Given the description of an element on the screen output the (x, y) to click on. 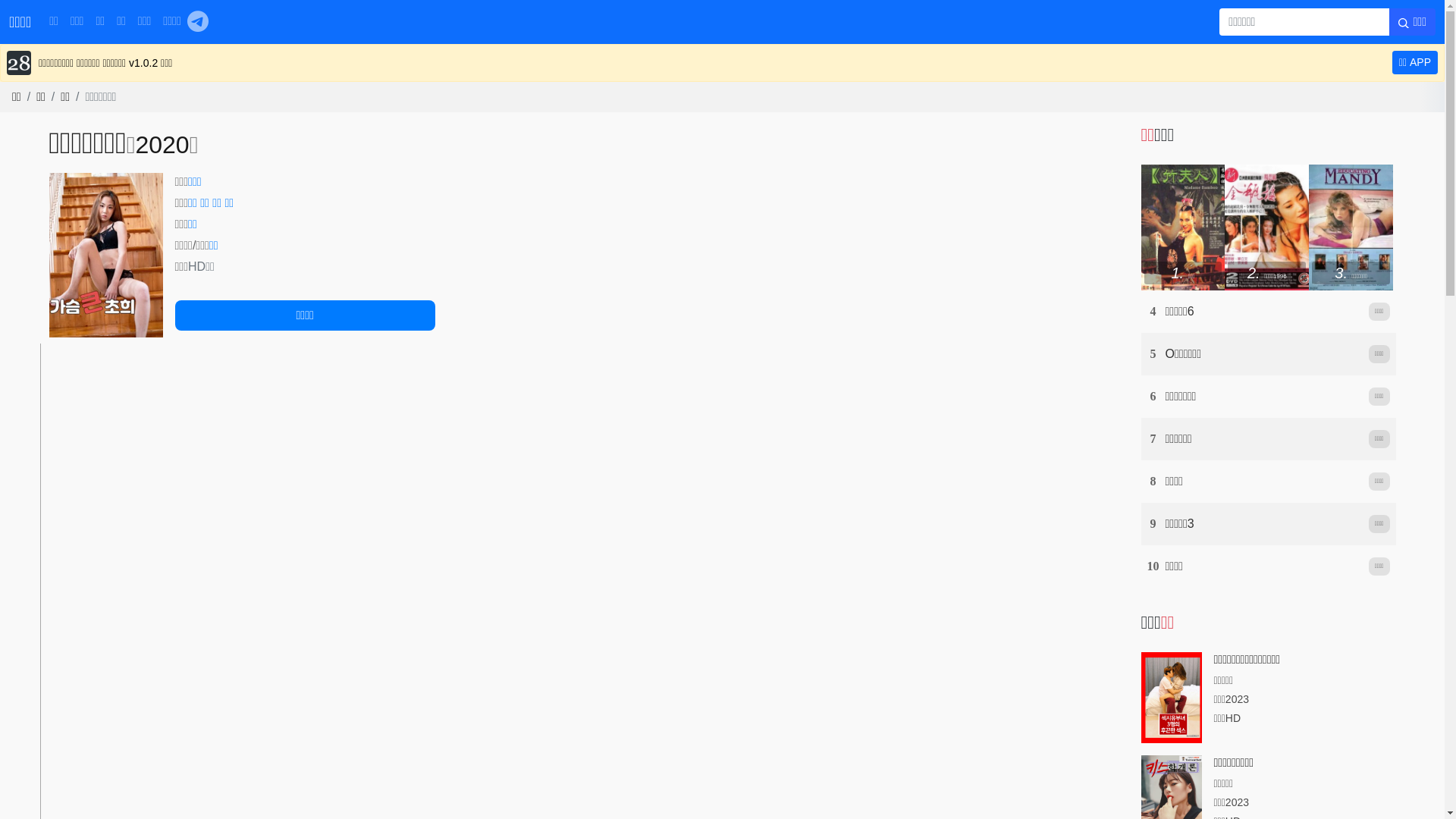
2020 Element type: text (161, 144)
